Given the description of an element on the screen output the (x, y) to click on. 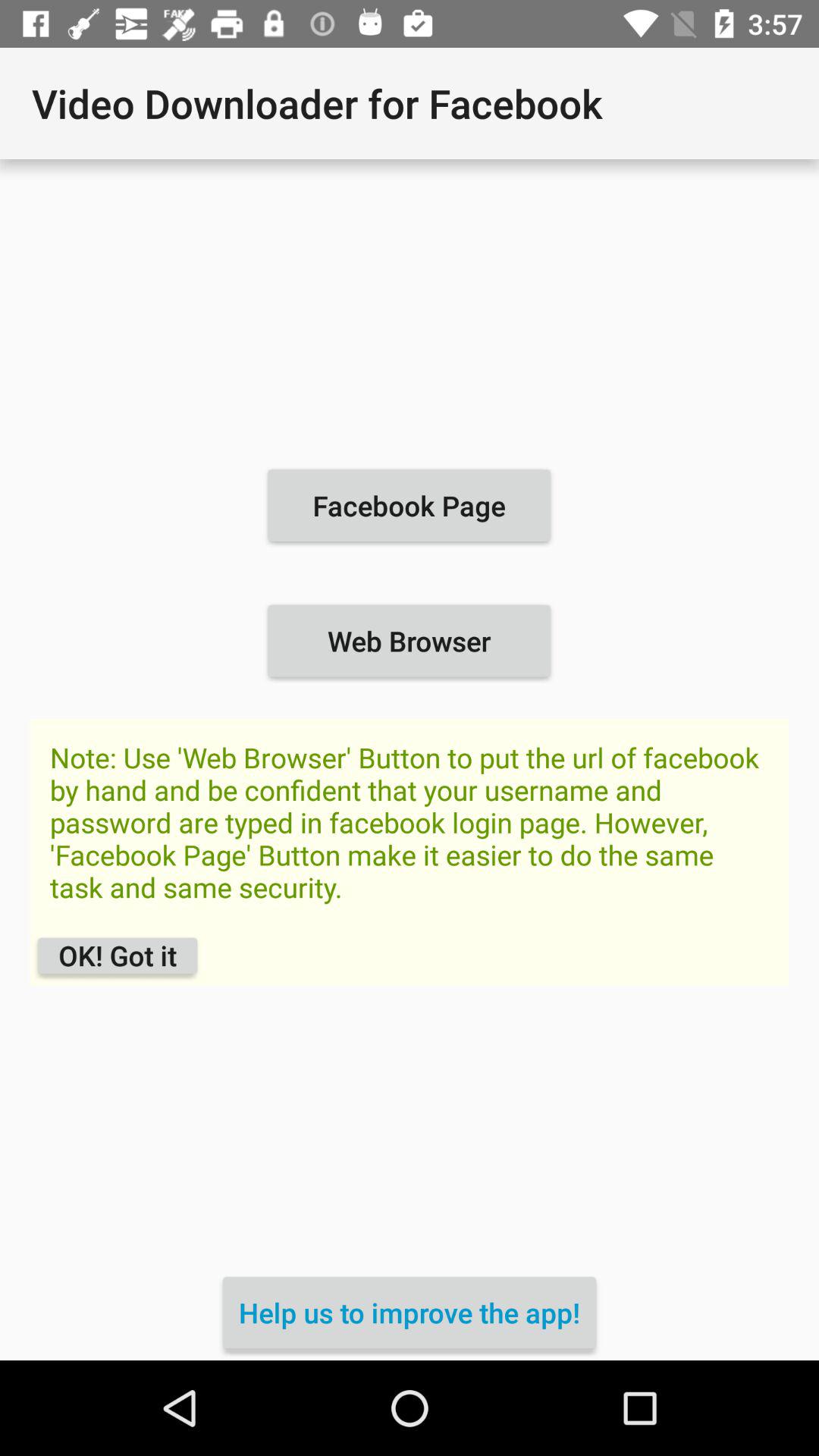
press the help us to item (409, 1312)
